Given the description of an element on the screen output the (x, y) to click on. 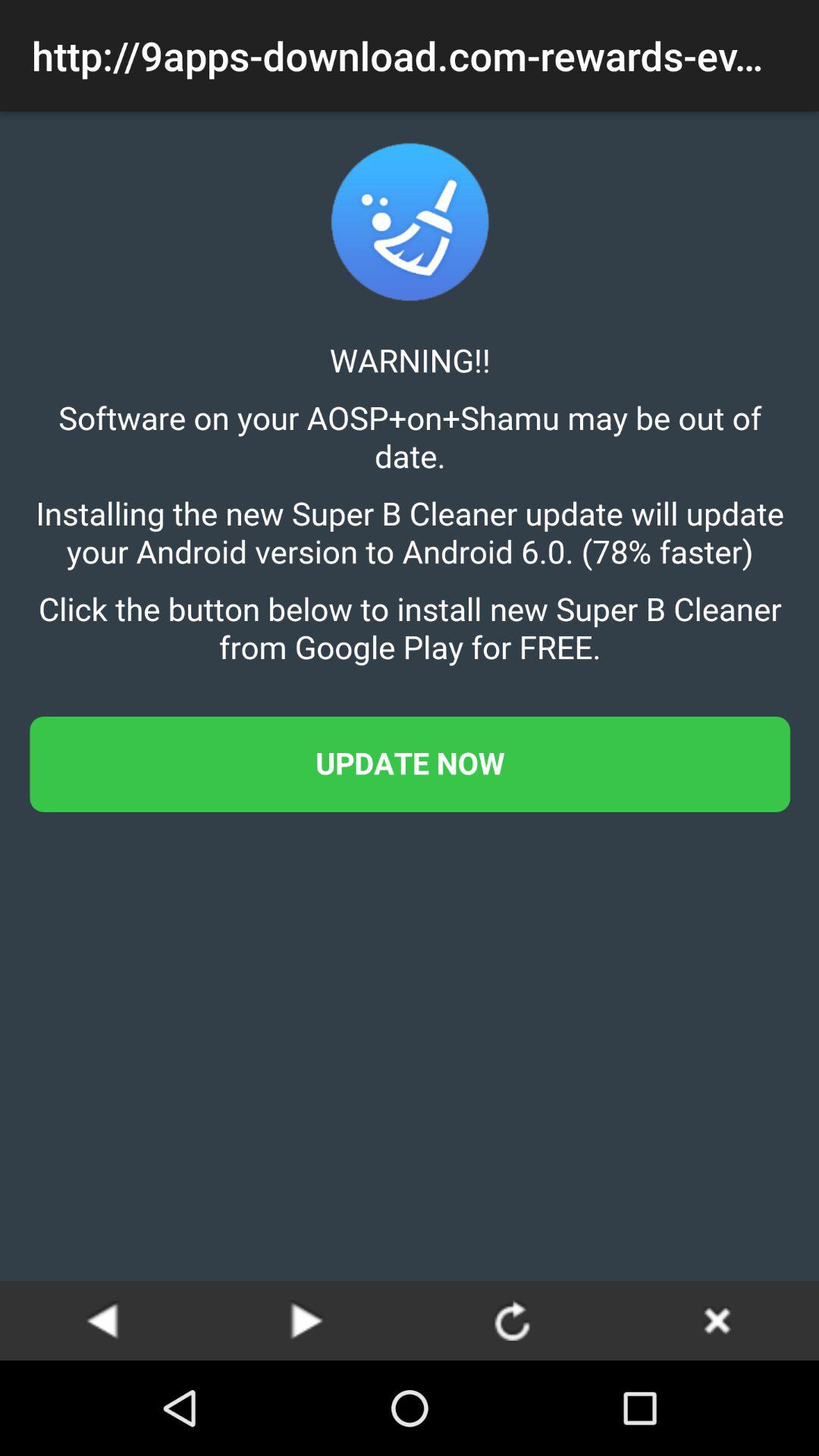
go to the previous page (102, 1320)
